Given the description of an element on the screen output the (x, y) to click on. 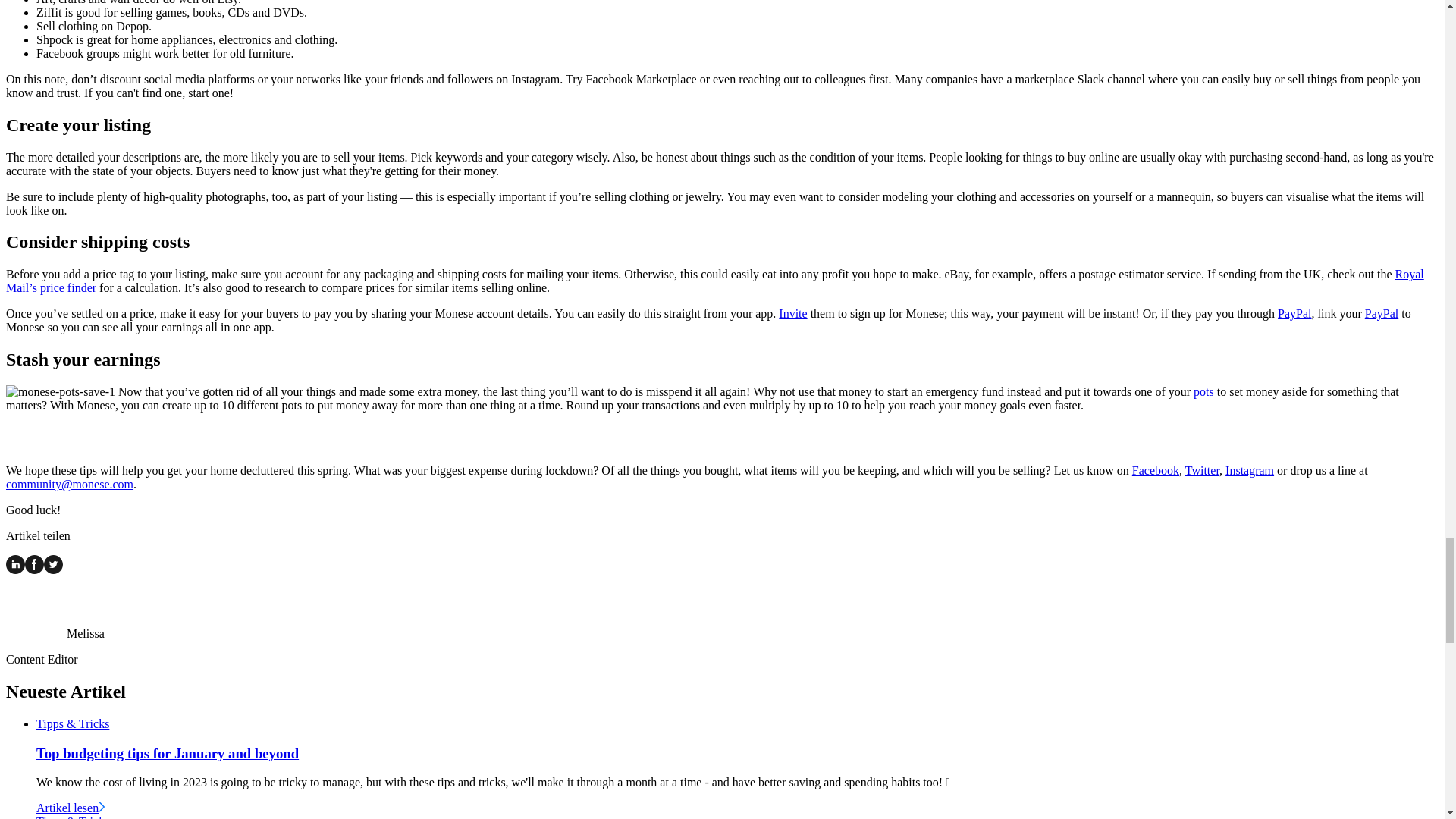
Monese official Twitter page (1202, 470)
Monese official Instagram page (1249, 470)
Monese with the power of PayPal (1294, 313)
Monese with the power of PayPal (1381, 313)
Grow your savings (1203, 391)
Monese official Facebook page (1155, 470)
Get a price (714, 280)
Invite and earn (792, 313)
